Given the description of an element on the screen output the (x, y) to click on. 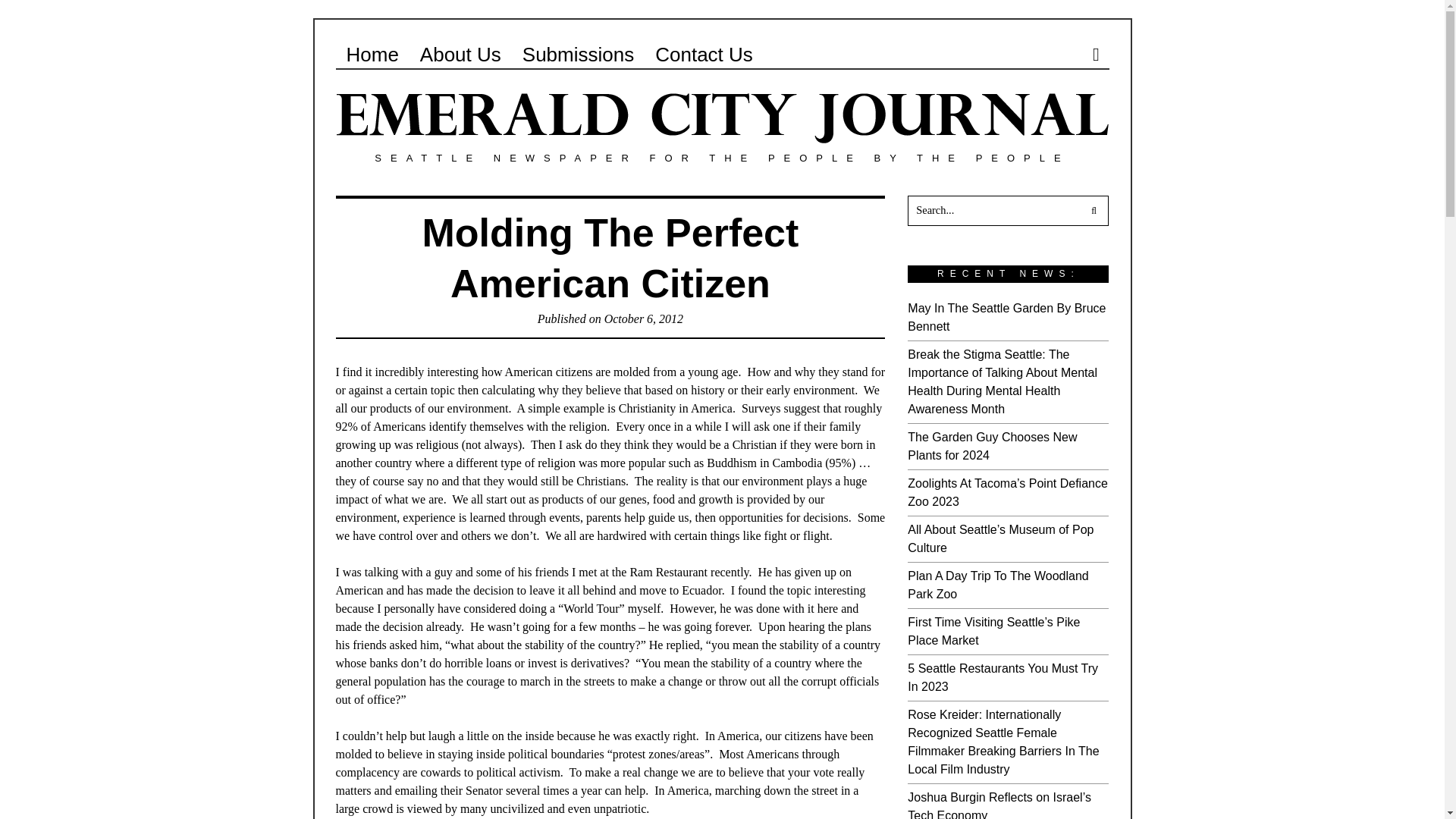
About Us (460, 54)
Contact Us (703, 54)
Plan A Day Trip To The Woodland Park Zoo (997, 584)
Submissions (578, 54)
May In The Seattle Garden By Bruce Bennett (1006, 317)
Go (1093, 210)
5 Seattle Restaurants You Must Try In 2023 (1002, 676)
The Garden Guy Chooses New Plants for 2024 (992, 445)
Home (371, 54)
